Given the description of an element on the screen output the (x, y) to click on. 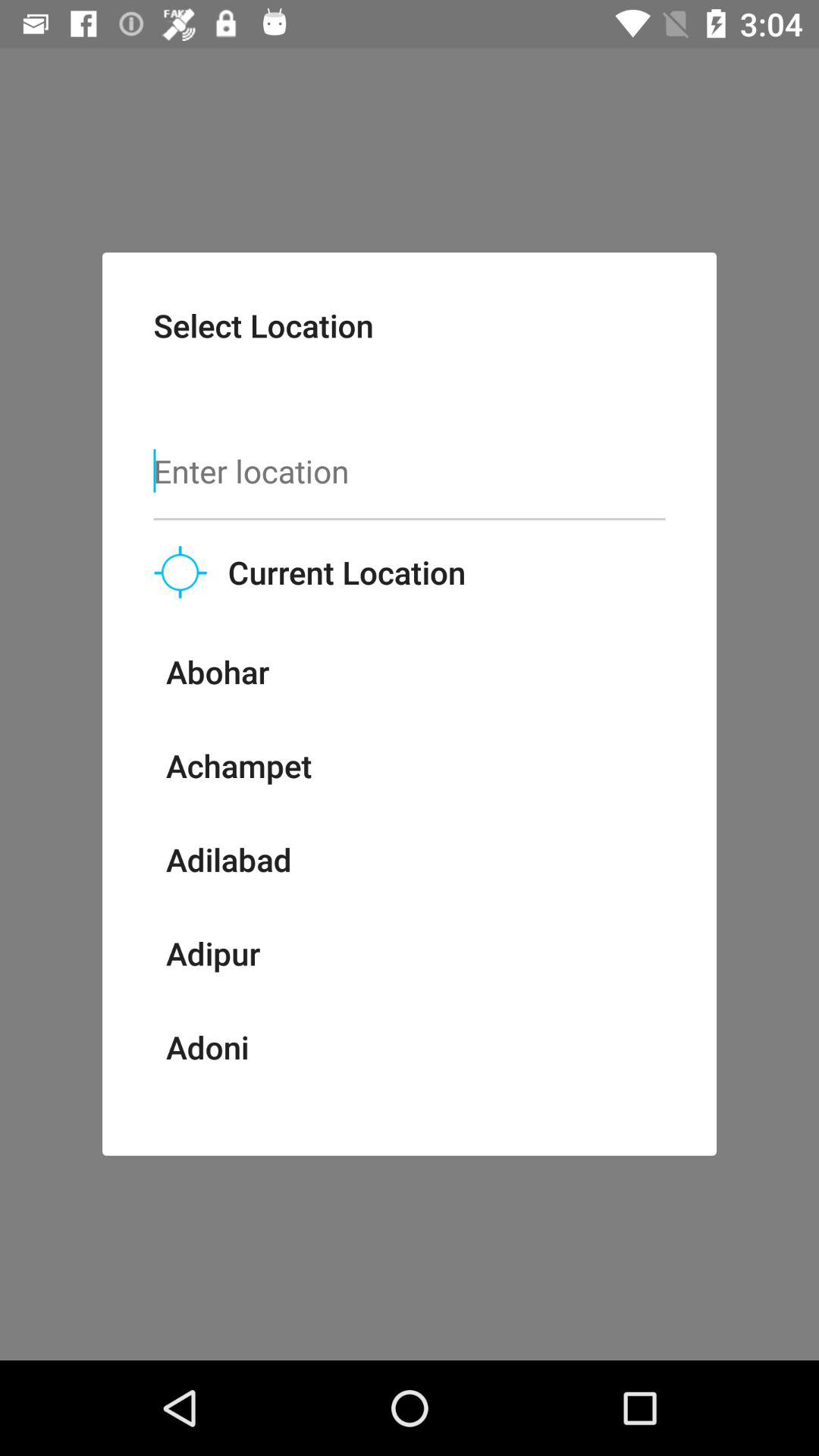
press adilabad icon (228, 859)
